Given the description of an element on the screen output the (x, y) to click on. 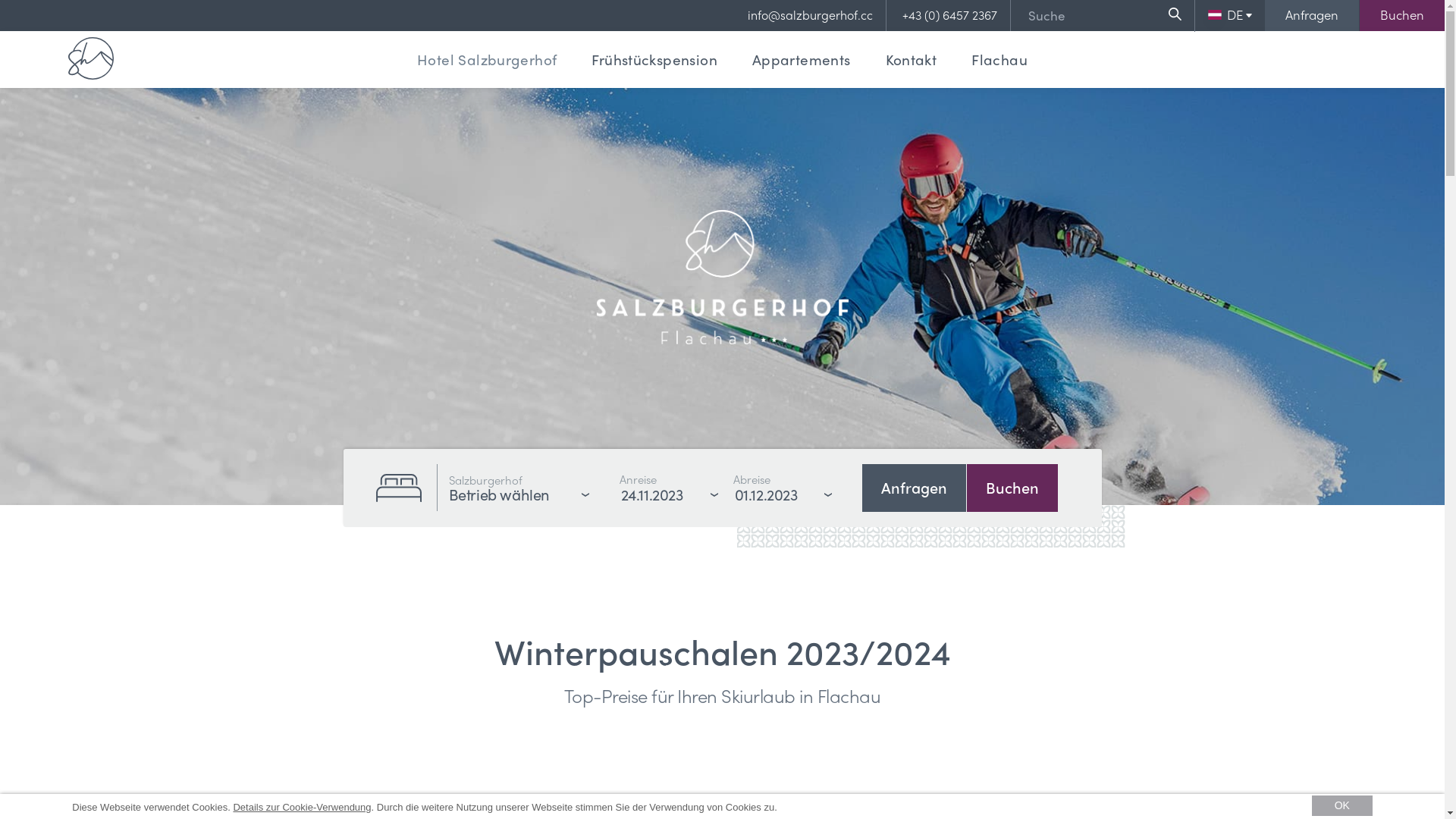
DE Element type: text (1230, 14)
Flachau Element type: text (998, 59)
Appartements Element type: text (801, 59)
Anfragen Element type: text (913, 487)
+43 (0) 6457 2367 Element type: text (956, 15)
info@salzburgerhof.cc Element type: text (816, 15)
OK Element type: text (1341, 805)
Suchen Element type: text (1174, 13)
Buchen Element type: text (1011, 487)
Hotel Salzburgerhof Element type: text (486, 59)
Details zur Cookie-Verwendung Element type: text (301, 806)
Buchen Element type: text (1401, 15)
Anfragen Element type: text (1311, 15)
Kontakt Element type: text (911, 59)
